Given the description of an element on the screen output the (x, y) to click on. 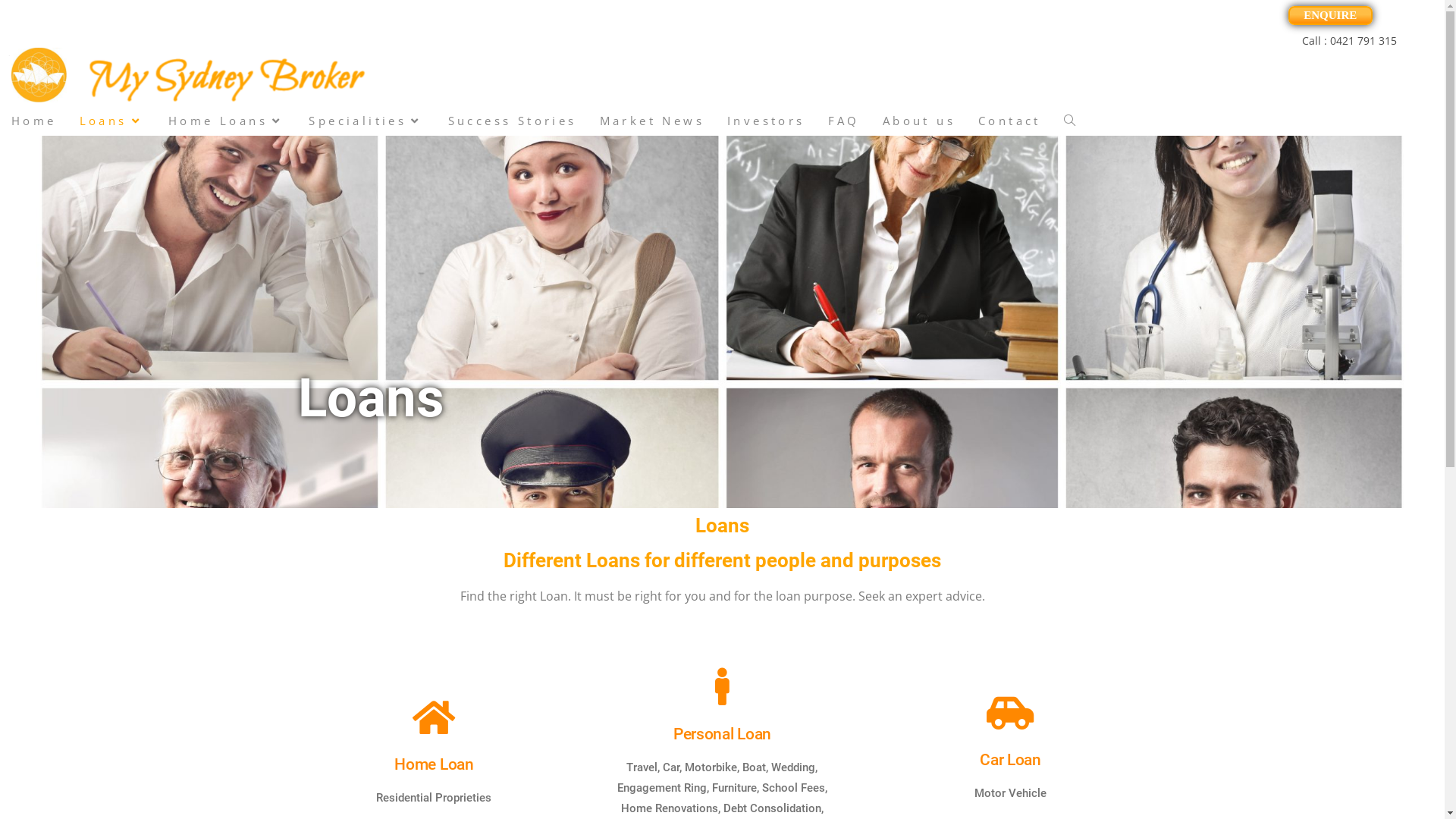
Personal Loan Element type: text (722, 733)
Home Element type: text (34, 120)
Car Loan Element type: text (1010, 759)
Home Loans Element type: text (226, 120)
About us Element type: text (918, 120)
Home Loan Element type: text (433, 764)
Success Stories Element type: text (512, 120)
Market News Element type: text (651, 120)
ENQUIRE Element type: text (1330, 15)
Contact Element type: text (1009, 120)
Specialities Element type: text (366, 120)
Loans Element type: text (112, 120)
Investors Element type: text (765, 120)
FAQ Element type: text (843, 120)
